Given the description of an element on the screen output the (x, y) to click on. 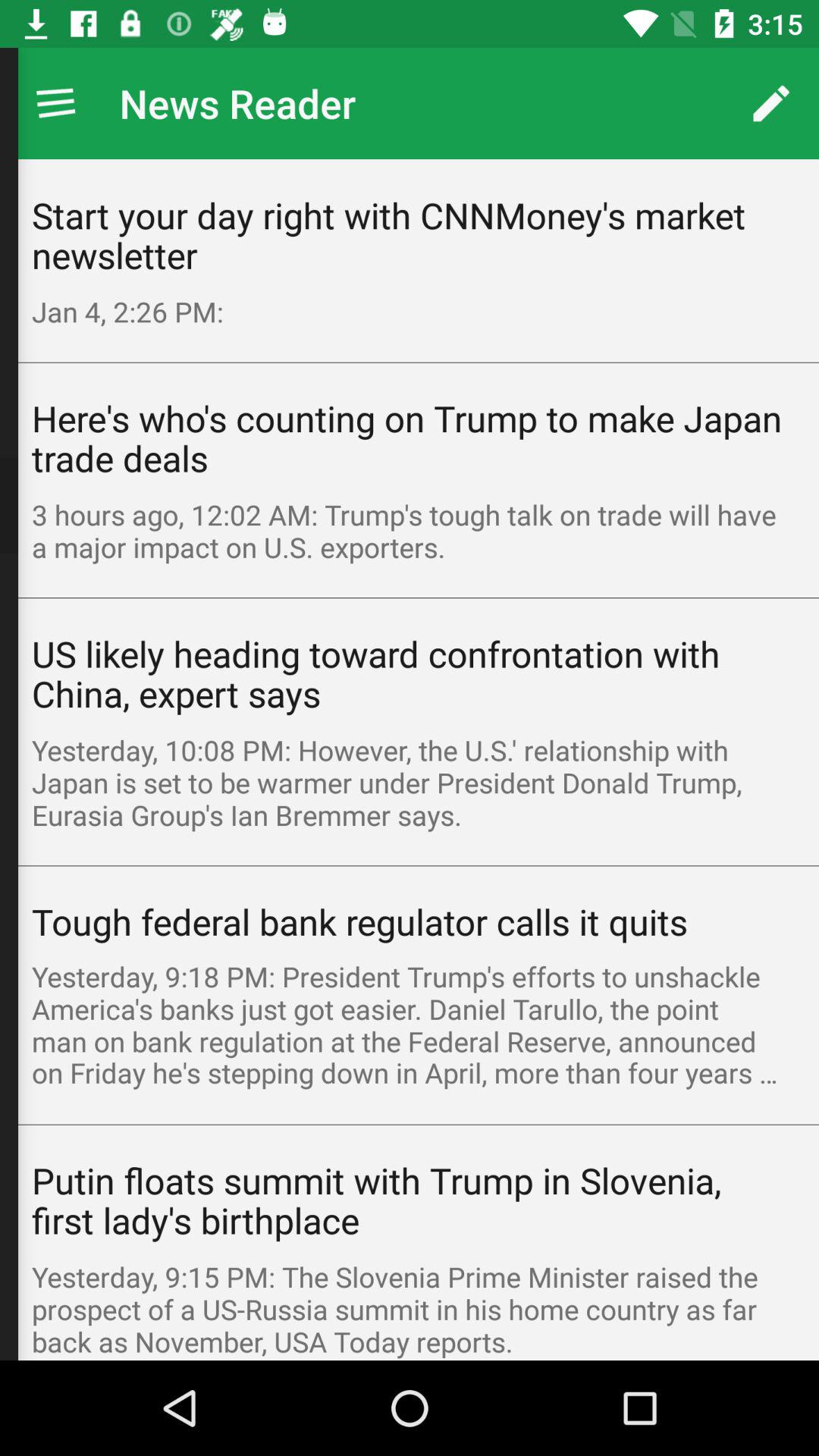
choose app next to news reader icon (55, 103)
